Given the description of an element on the screen output the (x, y) to click on. 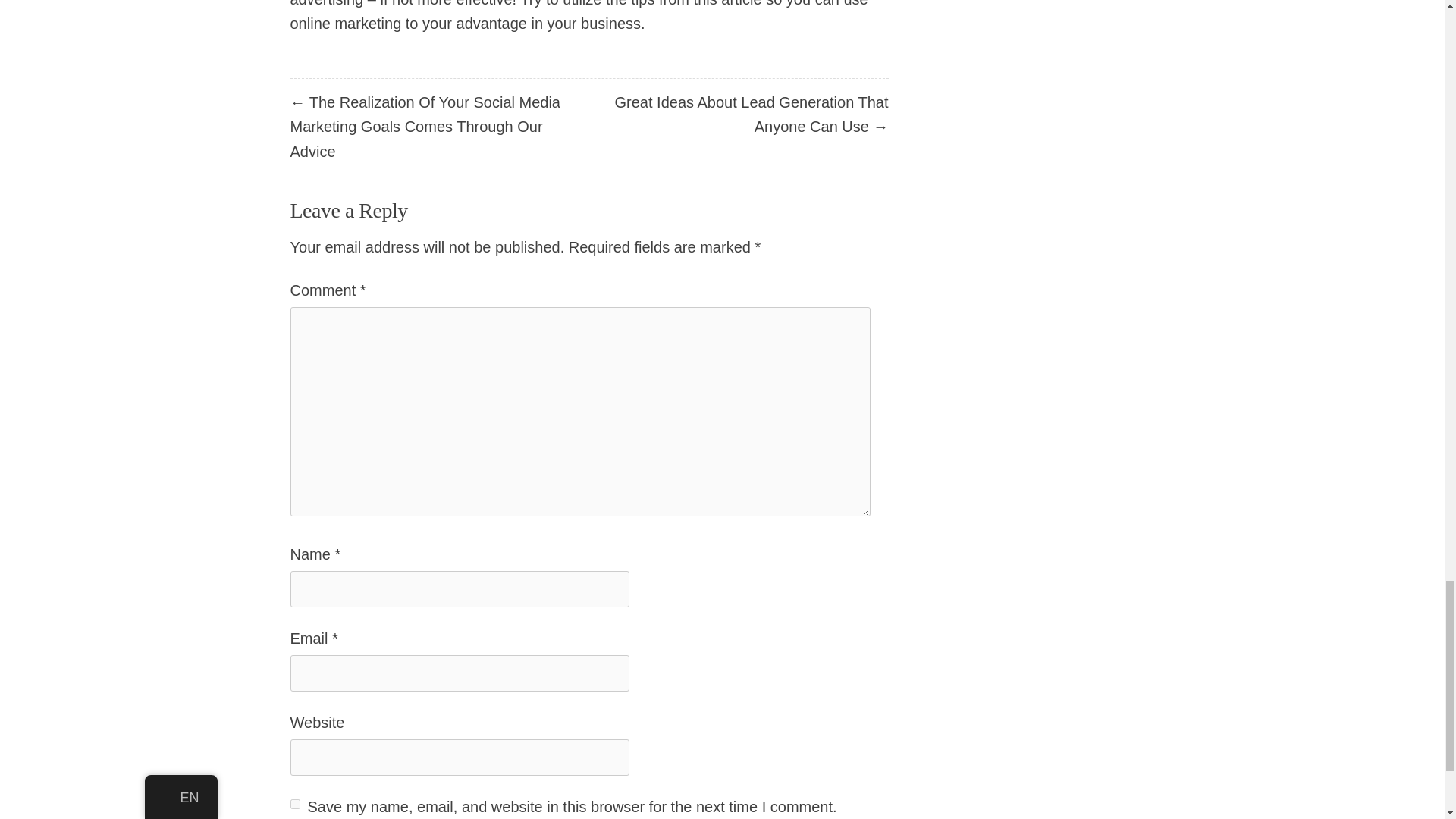
yes (294, 804)
